Given the description of an element on the screen output the (x, y) to click on. 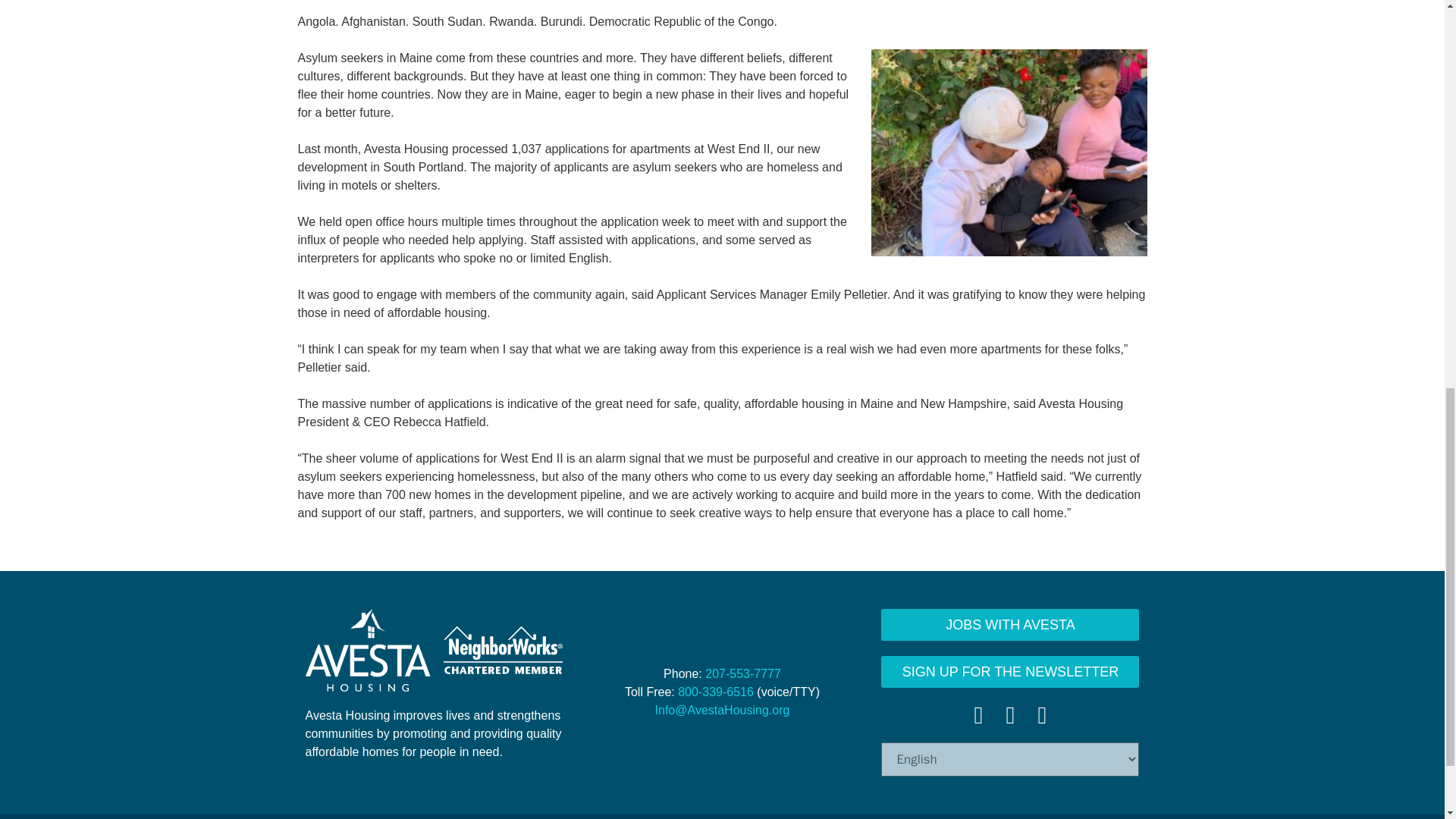
SIGN UP FOR THE NEWSLETTER (1009, 671)
JOBS WITH AVESTA (1009, 623)
800-339-6516 (716, 691)
207-553-7777 (742, 673)
